Given the description of an element on the screen output the (x, y) to click on. 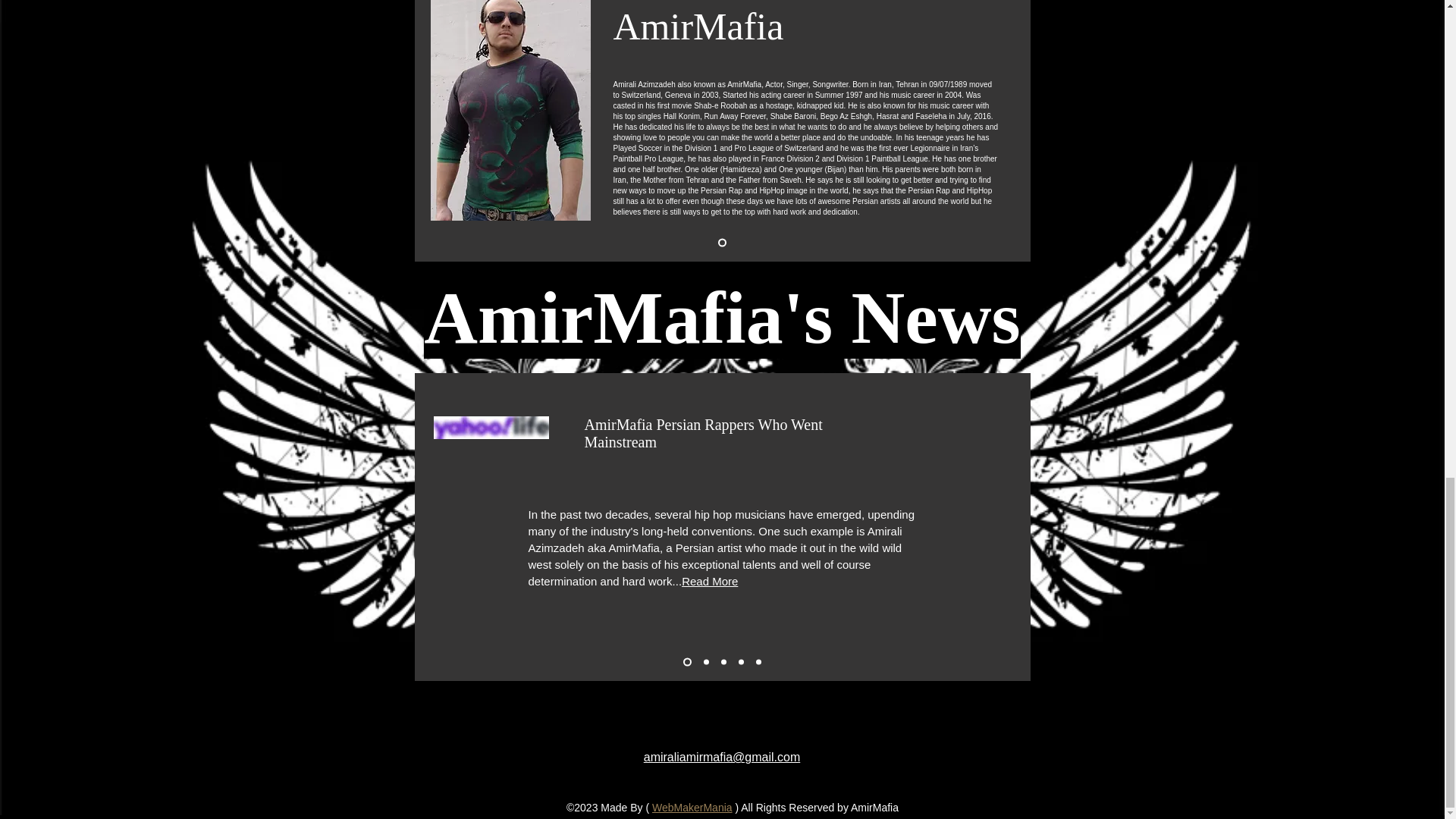
Pretty White Blouse (490, 427)
WebMakerMania (692, 807)
Read More (709, 581)
